Given the description of an element on the screen output the (x, y) to click on. 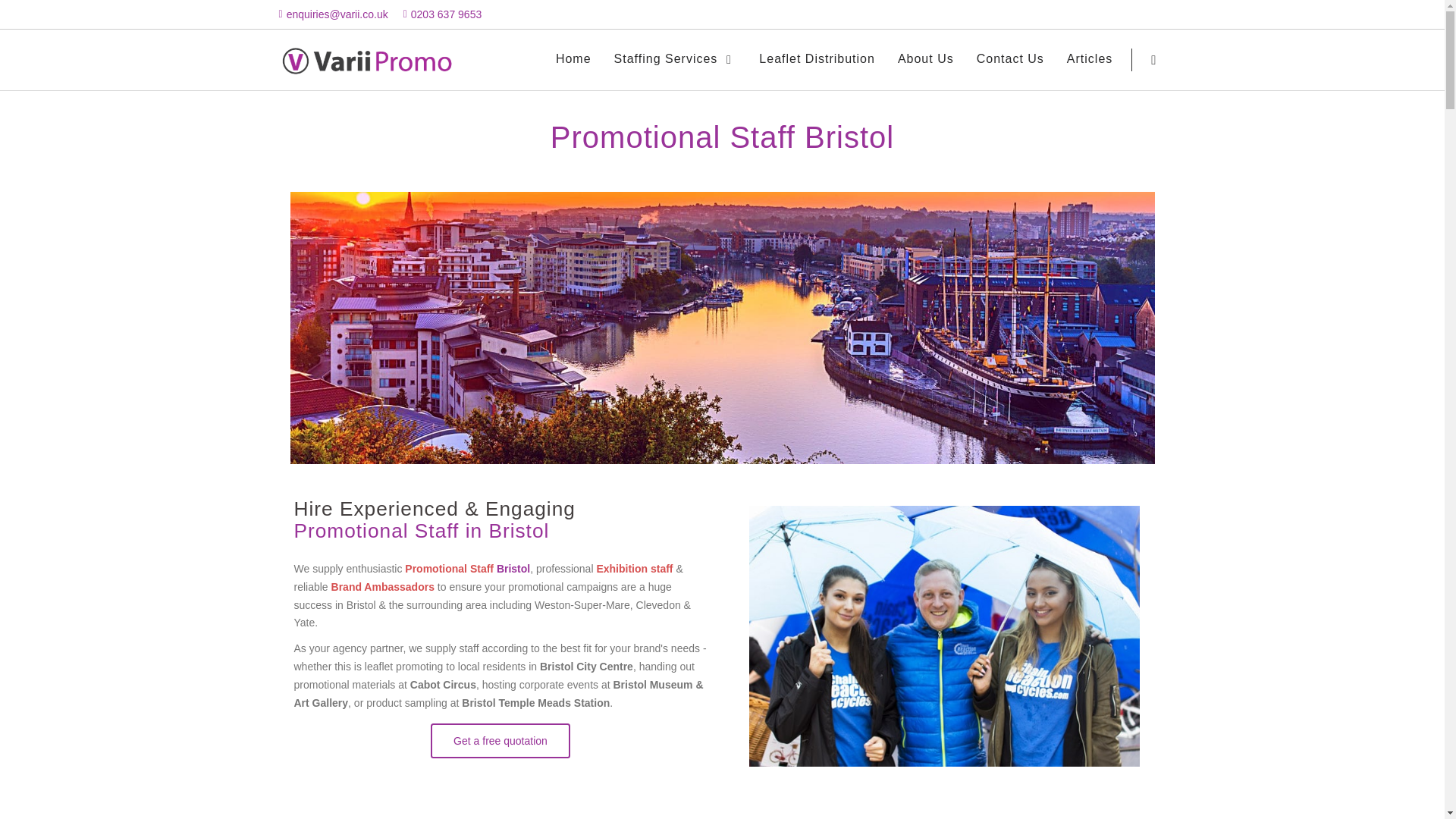
Articles (1089, 59)
Staffing Services (675, 59)
Home (573, 59)
About Us (925, 59)
Leaflet Distribution (816, 59)
0203 637 9653 (445, 14)
Contact Us (1009, 59)
